Given the description of an element on the screen output the (x, y) to click on. 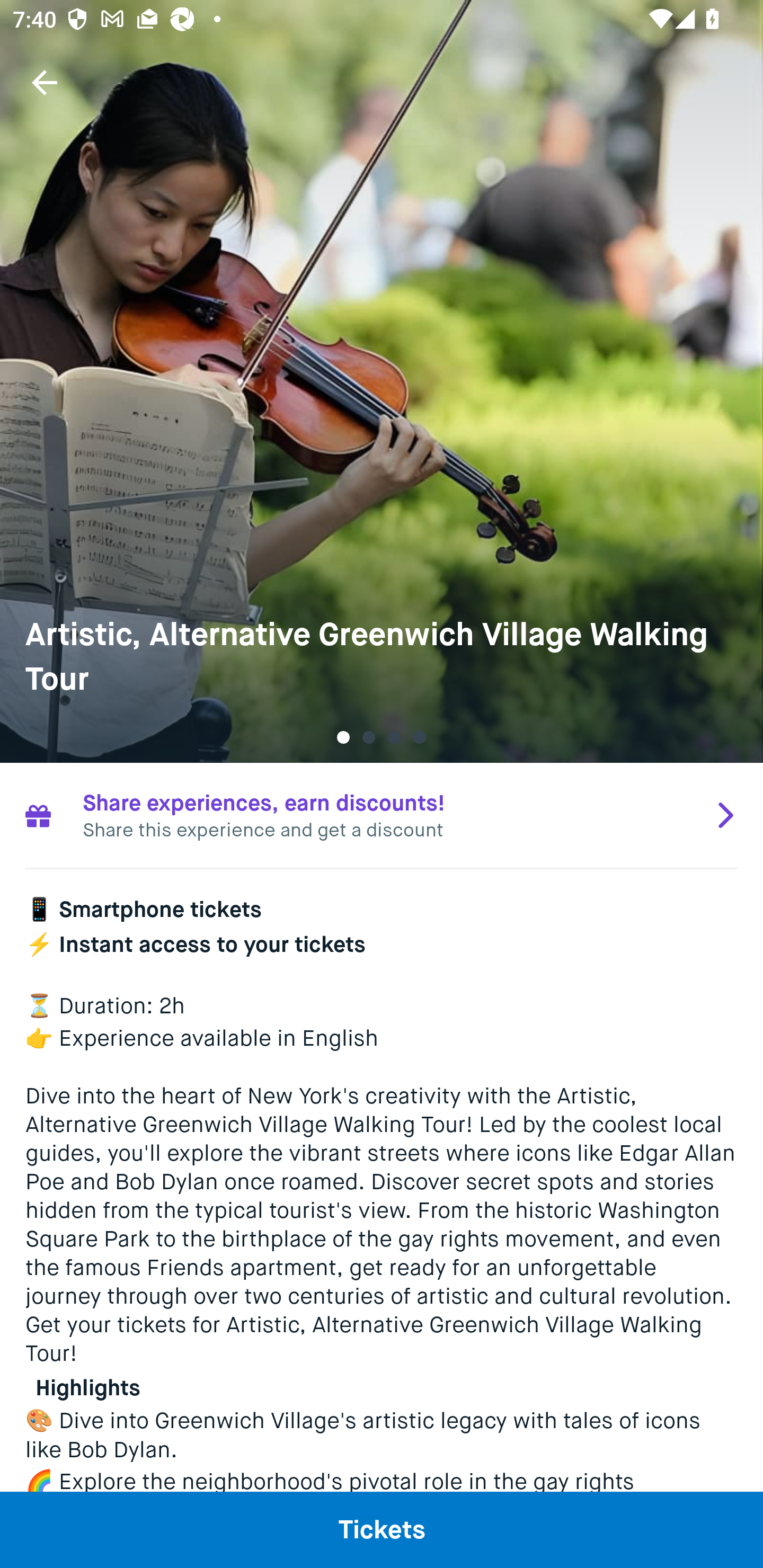
Navigate up (44, 82)
Tickets (381, 1529)
